Given the description of an element on the screen output the (x, y) to click on. 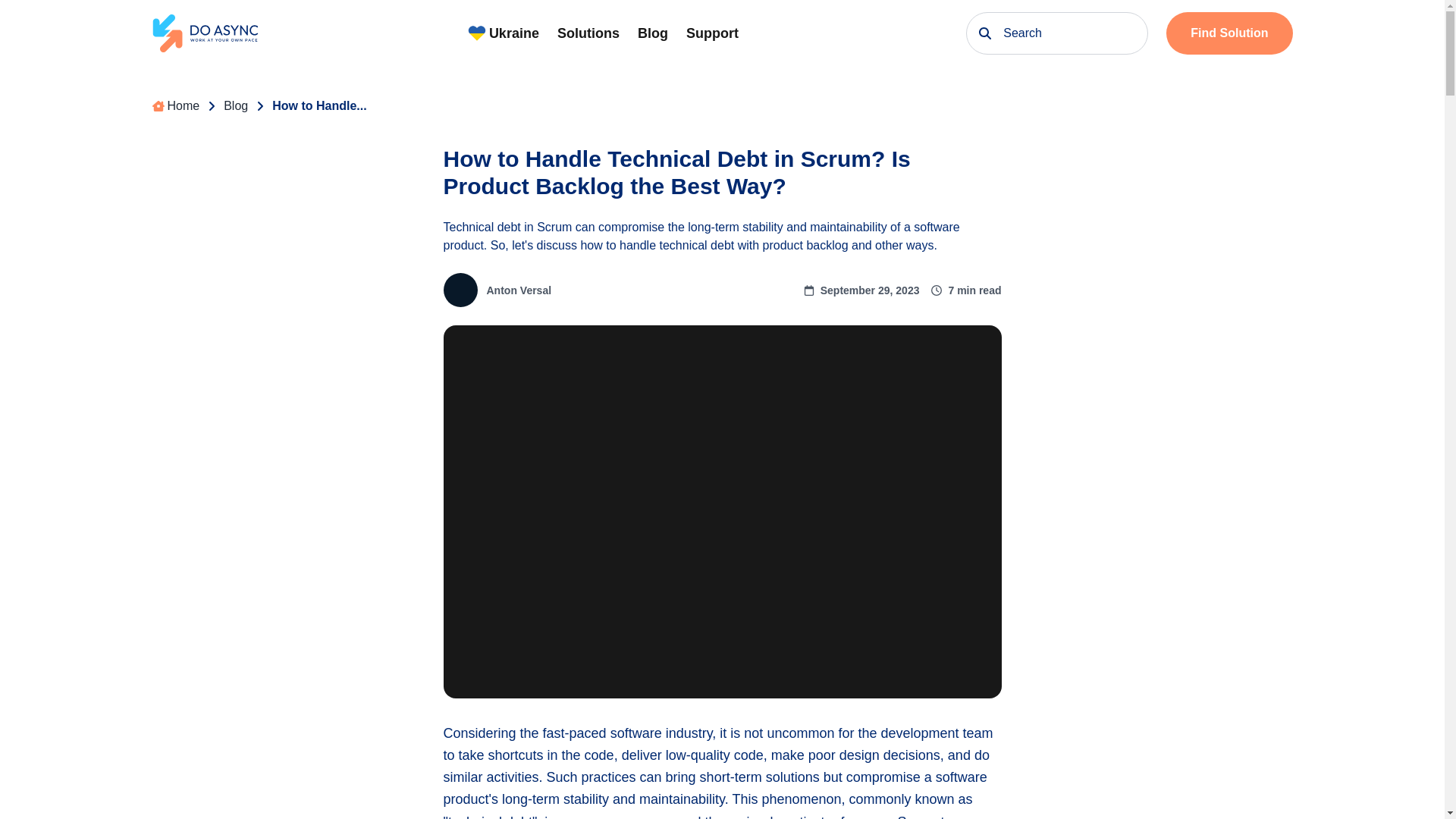
Home (175, 106)
Find Solution (1229, 33)
Blog (235, 106)
Ukraine (502, 33)
Solutions (588, 32)
Support (711, 32)
Blog (652, 32)
